Given the description of an element on the screen output the (x, y) to click on. 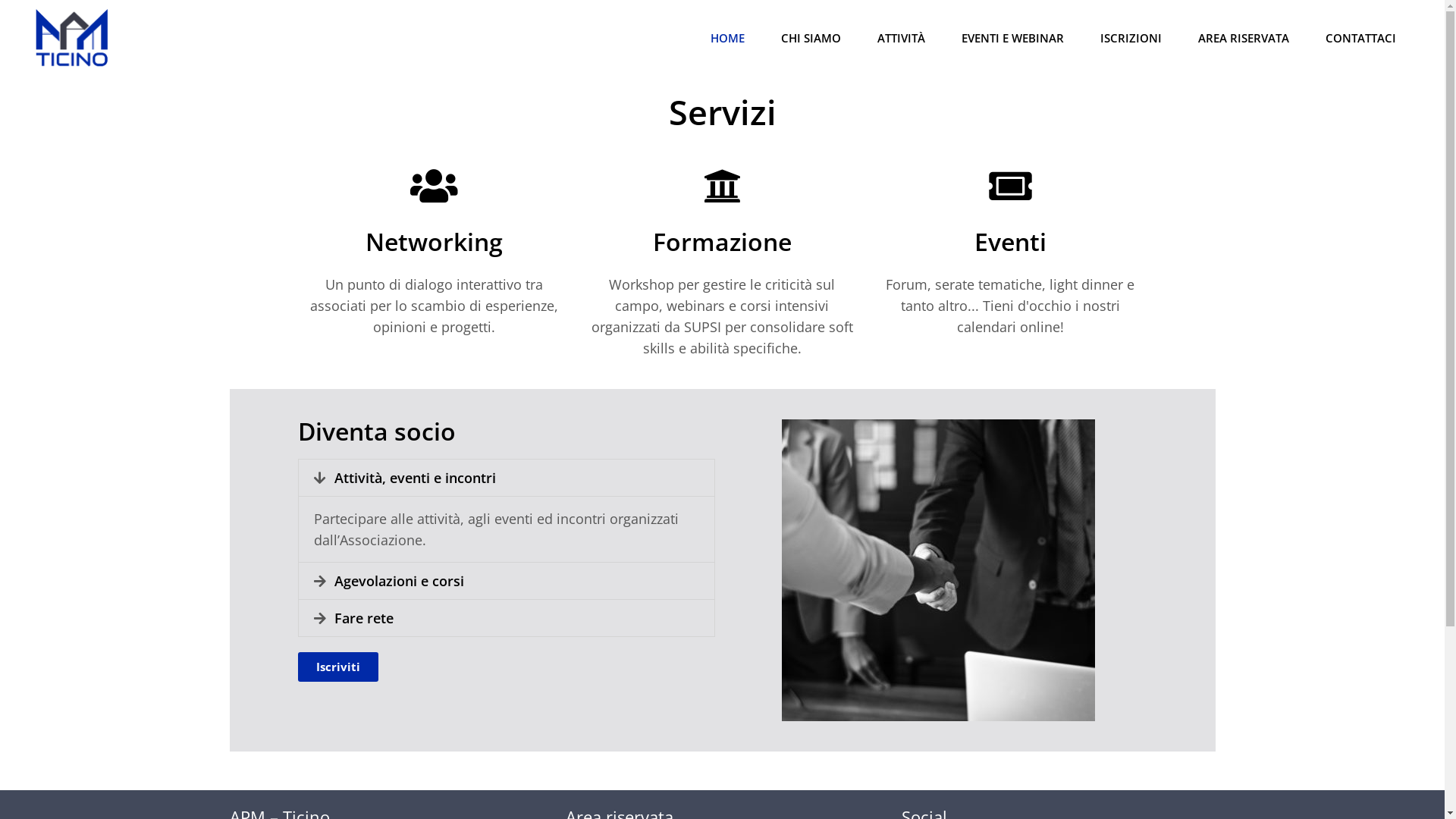
CONTATTACI Element type: text (1360, 37)
HOME Element type: text (727, 37)
CHI SIAMO Element type: text (810, 37)
Fare rete Element type: text (362, 617)
Agevolazioni e corsi Element type: text (398, 580)
AREA RISERVATA Element type: text (1243, 37)
EVENTI E WEBINAR Element type: text (1012, 37)
ISCRIZIONI Element type: text (1130, 37)
Iscriviti Element type: text (337, 666)
